Given the description of an element on the screen output the (x, y) to click on. 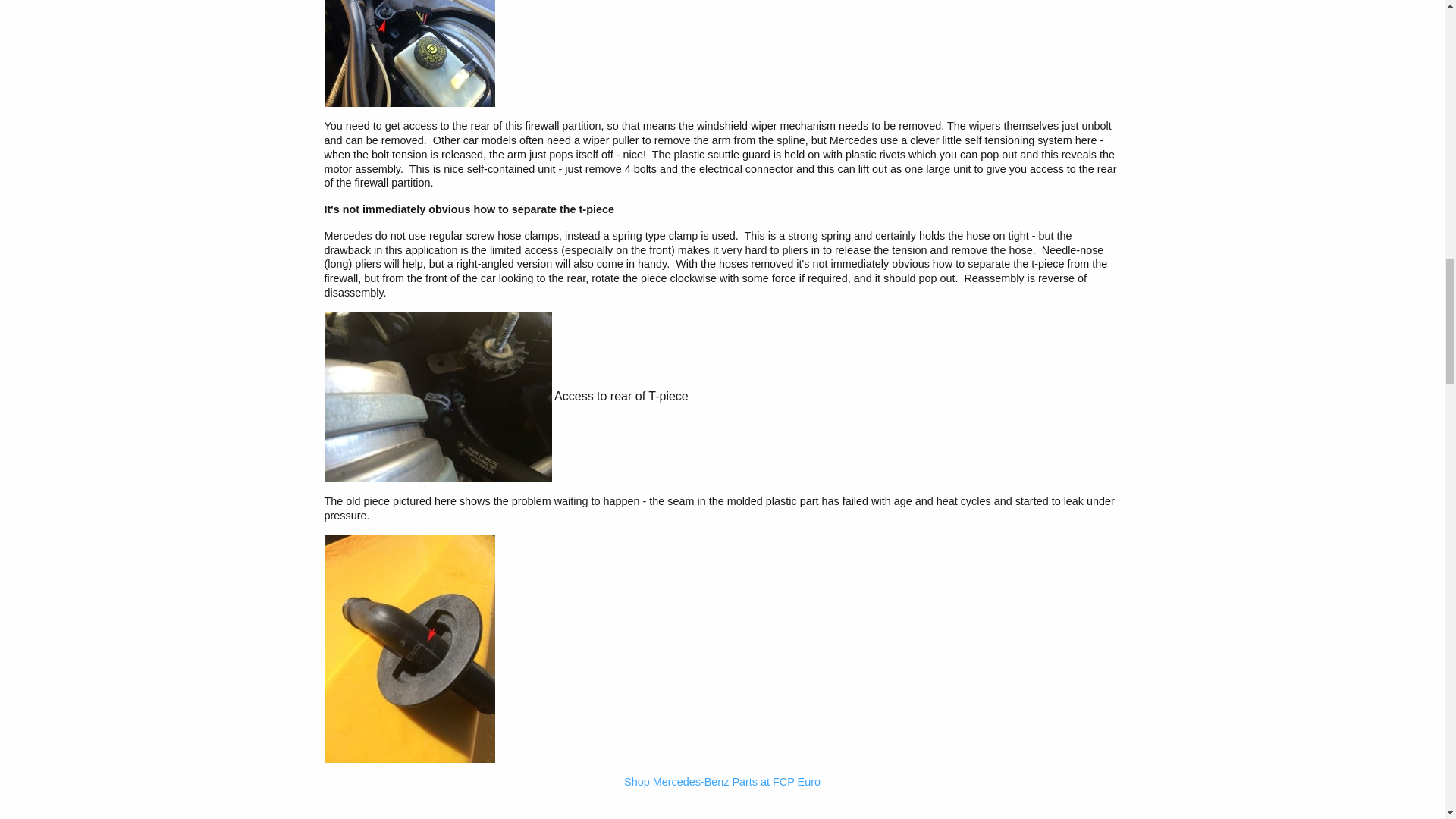
Shop Mercedes-Benz Parts at FCP Euro (722, 781)
